Given the description of an element on the screen output the (x, y) to click on. 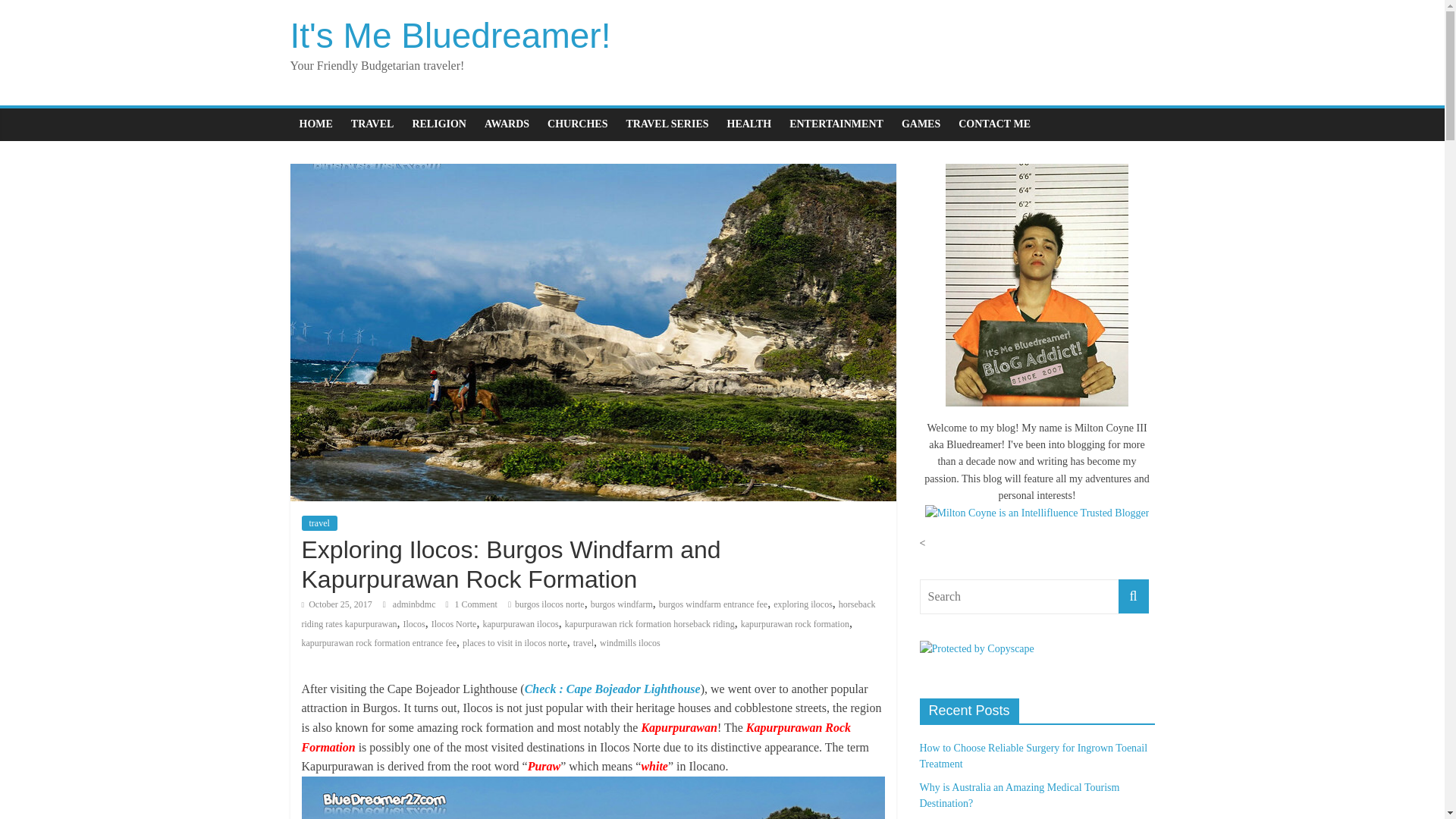
kapurpurawan rock formation entrance fee (379, 643)
RELIGION (439, 124)
travel (583, 643)
It's Me Bluedreamer! (449, 35)
Ilocos (414, 624)
travel (319, 522)
HOME (314, 124)
October 25, 2017 (336, 603)
burgos windfarm entrance fee (713, 603)
AWARDS (507, 124)
GAMES (920, 124)
windmills ilocos (630, 643)
burgos windfarm (621, 603)
1 Comment (471, 603)
CONTACT ME (994, 124)
